Given the description of an element on the screen output the (x, y) to click on. 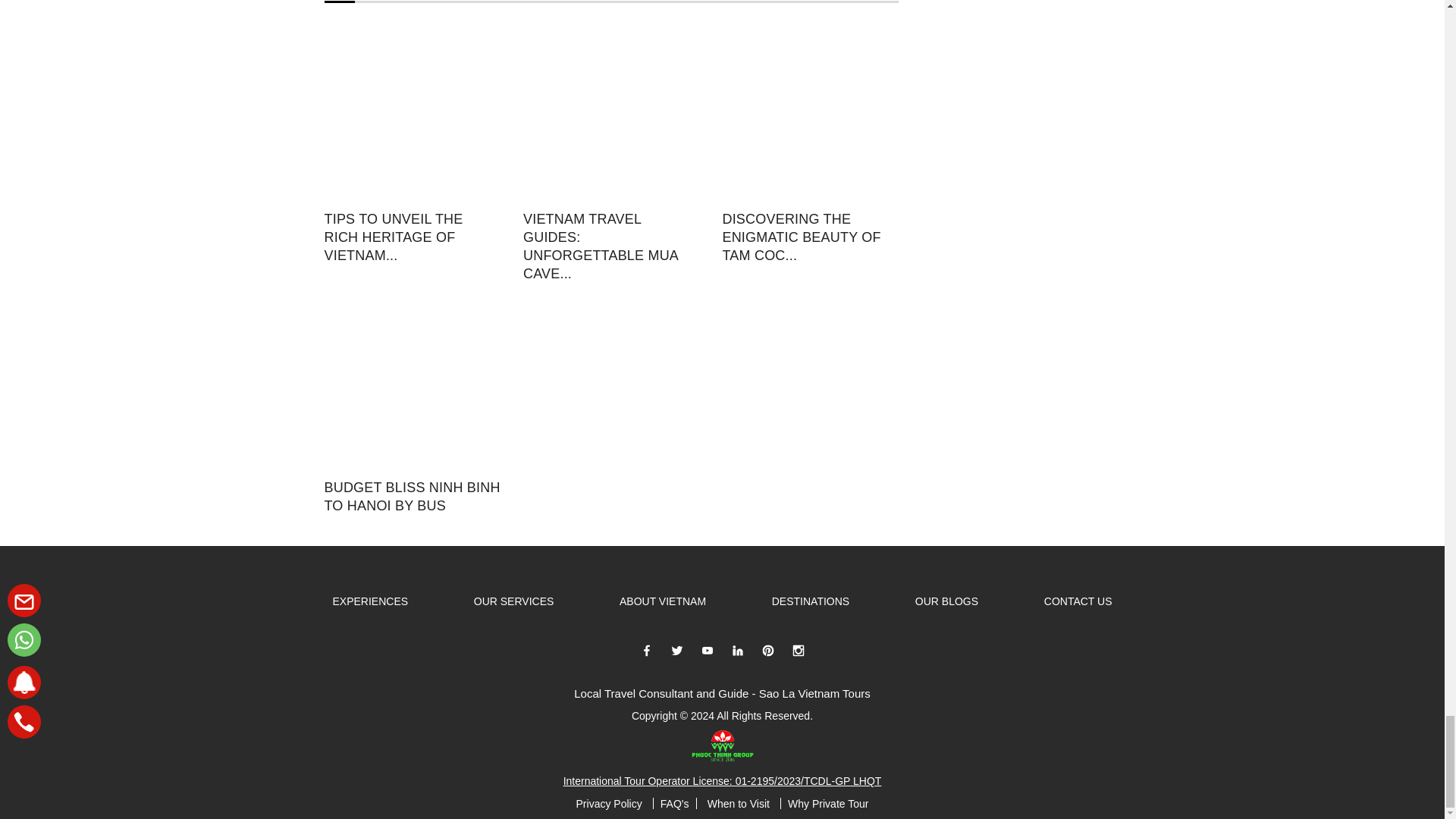
Budget Bliss Ninh Binh to Hanoi by Bus (412, 380)
Budget Bliss Ninh Binh to Hanoi by Bus (412, 496)
